Given the description of an element on the screen output the (x, y) to click on. 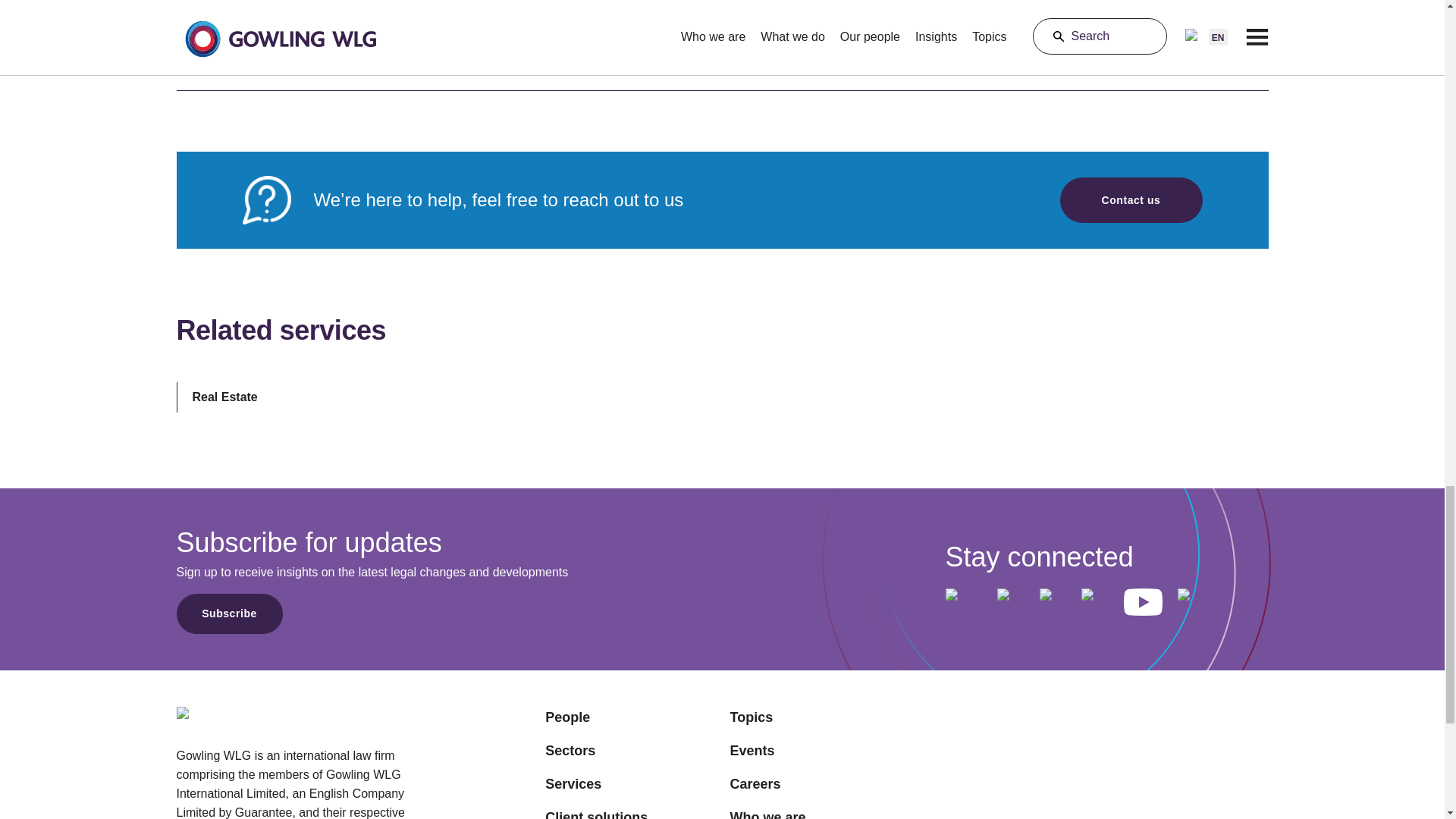
Subscribe (229, 613)
People (595, 717)
Contact us (1130, 199)
Careers (770, 783)
Client solutions (595, 812)
Topics (770, 717)
Sectors (595, 750)
Real Estate (224, 397)
Who we are (770, 812)
Services (595, 783)
